Given the description of an element on the screen output the (x, y) to click on. 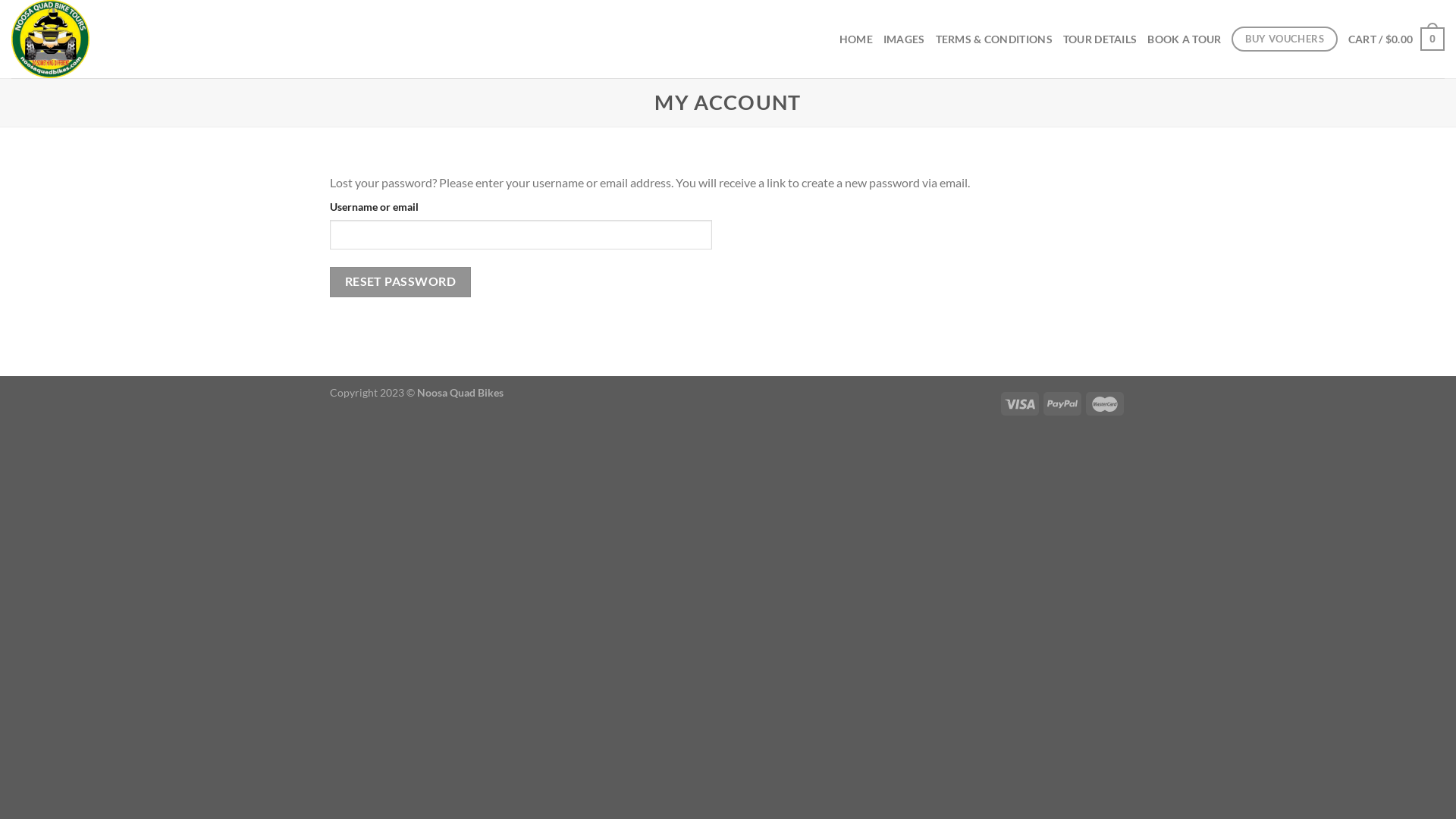
TOUR DETAILS Element type: text (1099, 38)
Noosa Quad Bike Tours - Do Something Different! Element type: hover (124, 39)
IMAGES Element type: text (904, 38)
BOOK A TOUR Element type: text (1183, 38)
RESET PASSWORD Element type: text (399, 281)
HOME Element type: text (855, 38)
BUY VOUCHERS Element type: text (1283, 38)
CART / $0.00
0 Element type: text (1396, 38)
TERMS & CONDITIONS Element type: text (993, 38)
